Given the description of an element on the screen output the (x, y) to click on. 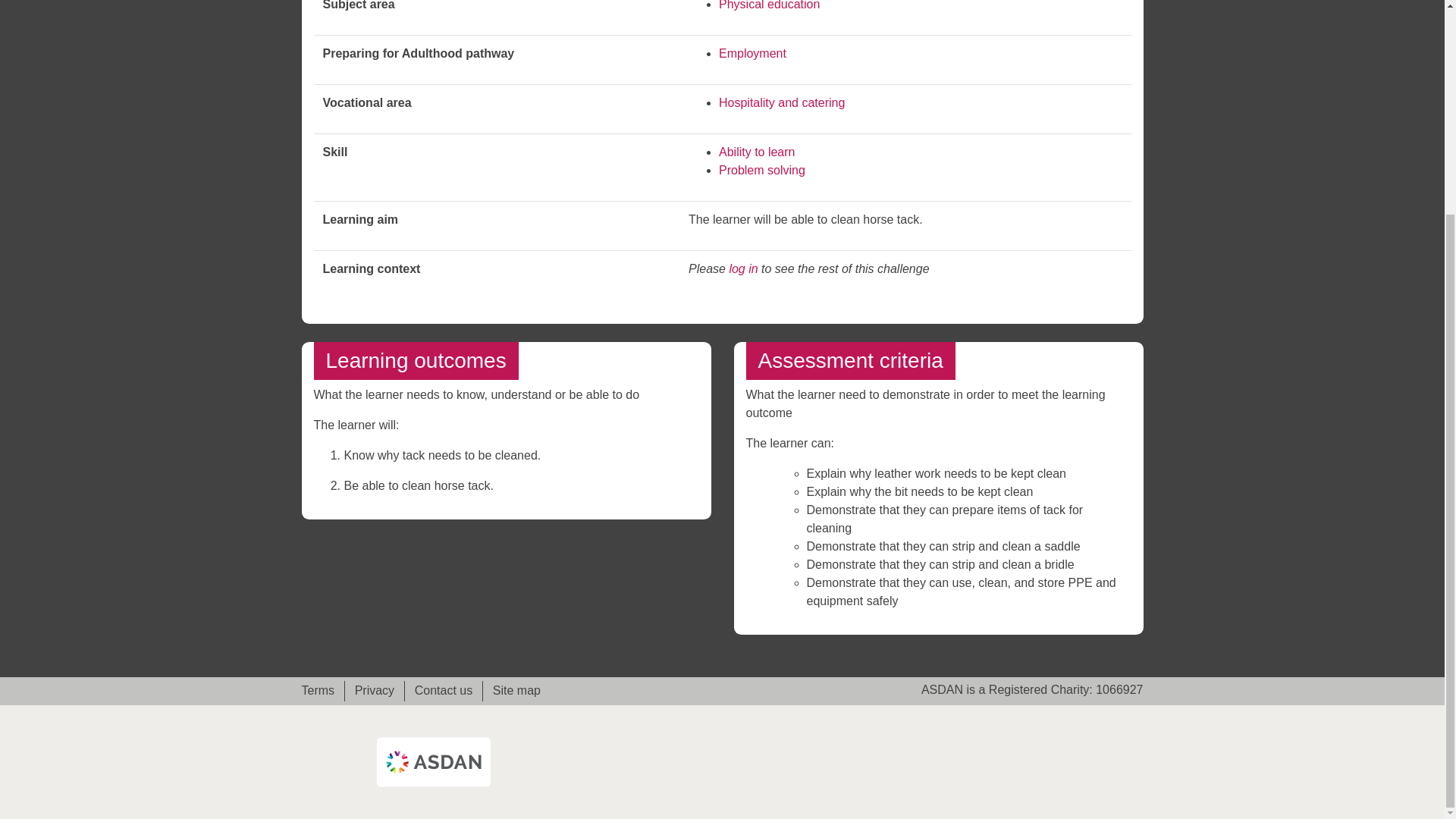
Site map (511, 690)
Hospitality and catering (781, 102)
Terms (322, 690)
Contact us (442, 690)
Privacy (374, 690)
Ability to learn (756, 151)
Problem solving (762, 169)
log in (743, 268)
Physical education (769, 5)
Employment (752, 52)
